Given the description of an element on the screen output the (x, y) to click on. 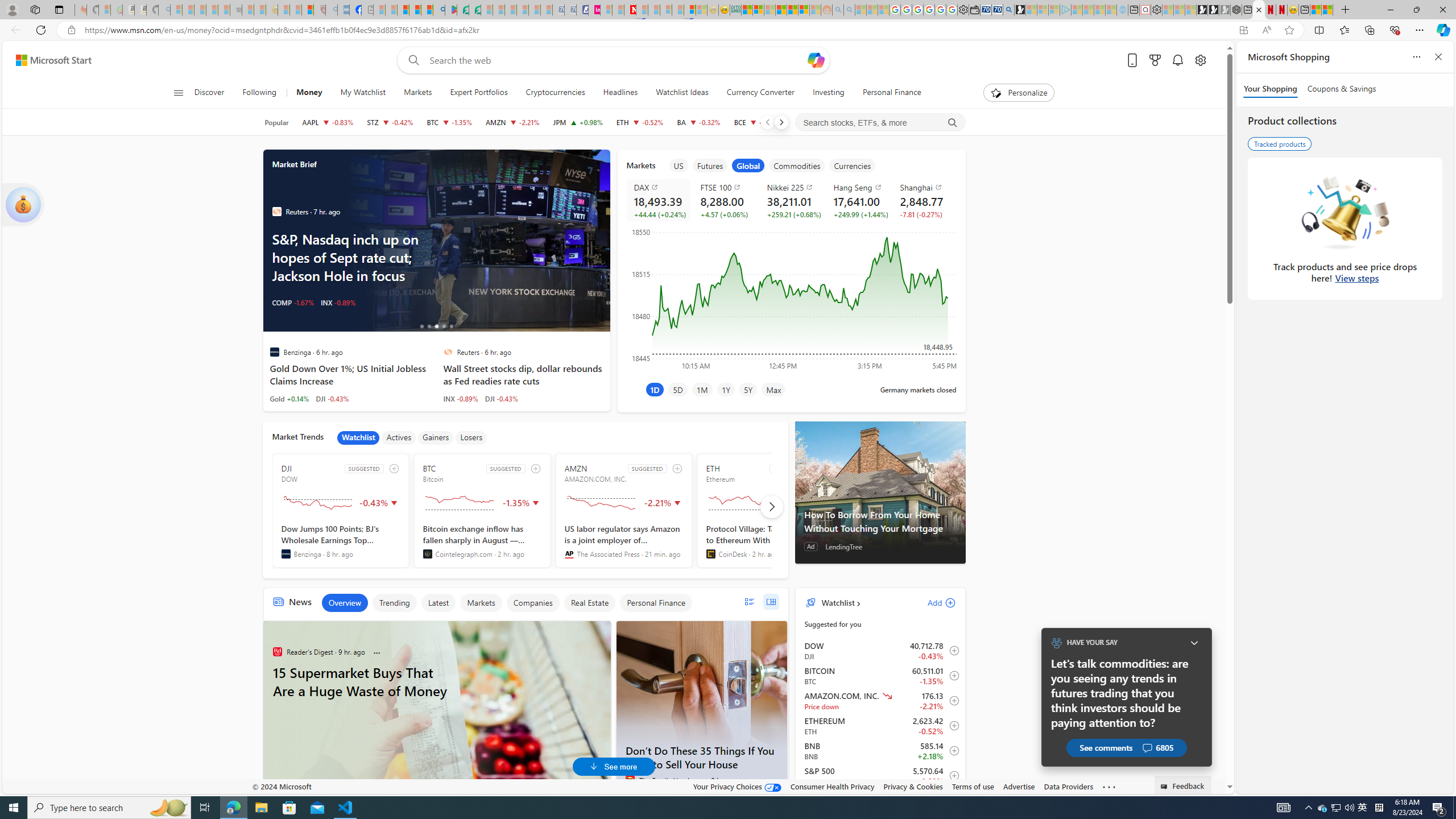
Latest (437, 602)
MarketWatch (276, 211)
14 Common Myths Debunked By Scientific Facts - Sleeping (654, 9)
Microsoft-Report a Concern to Bing - Sleeping (104, 9)
Terms of use (973, 785)
AMZN SUGGESTED AMAZON.COM, INC. (623, 510)
item3 (748, 164)
Microsoft rewards (1154, 60)
USOIL -0.08% (293, 302)
Class: button-glyph (178, 92)
